Given the description of an element on the screen output the (x, y) to click on. 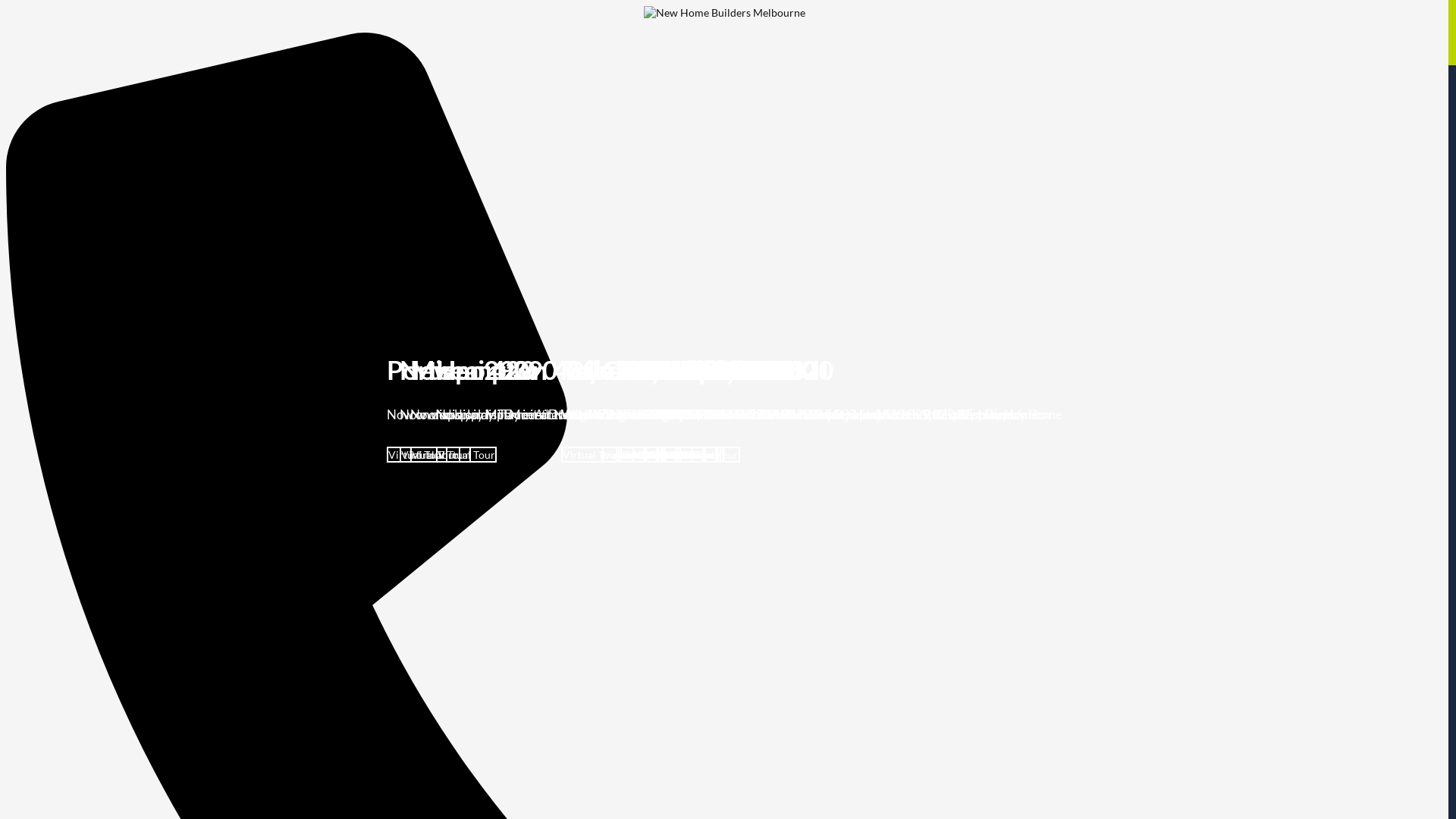
Virtual Tour Element type: text (645, 454)
Virtual Tour Element type: text (662, 454)
Virtual Tour Element type: text (650, 454)
Virtual Tour Element type: text (709, 454)
Virtual Tour Element type: text (685, 454)
Virtual Tour Element type: text (673, 454)
Virtual Tour Element type: text (416, 454)
Virtual Tour Element type: text (466, 454)
Virtual Tour Element type: text (675, 454)
Virtual Tour Element type: text (692, 454)
Virtual Tour Element type: text (674, 454)
Virtual Tour Element type: text (632, 454)
Virtual Tour Element type: text (694, 454)
Virtual Tour Element type: text (591, 454)
Virtual Tour Element type: text (428, 454)
Virtual Tour Element type: text (689, 454)
Virtual Tour Element type: text (647, 454)
Virtual Tour Element type: text (687, 454)
Virtual Tour Element type: text (440, 454)
